Given the description of an element on the screen output the (x, y) to click on. 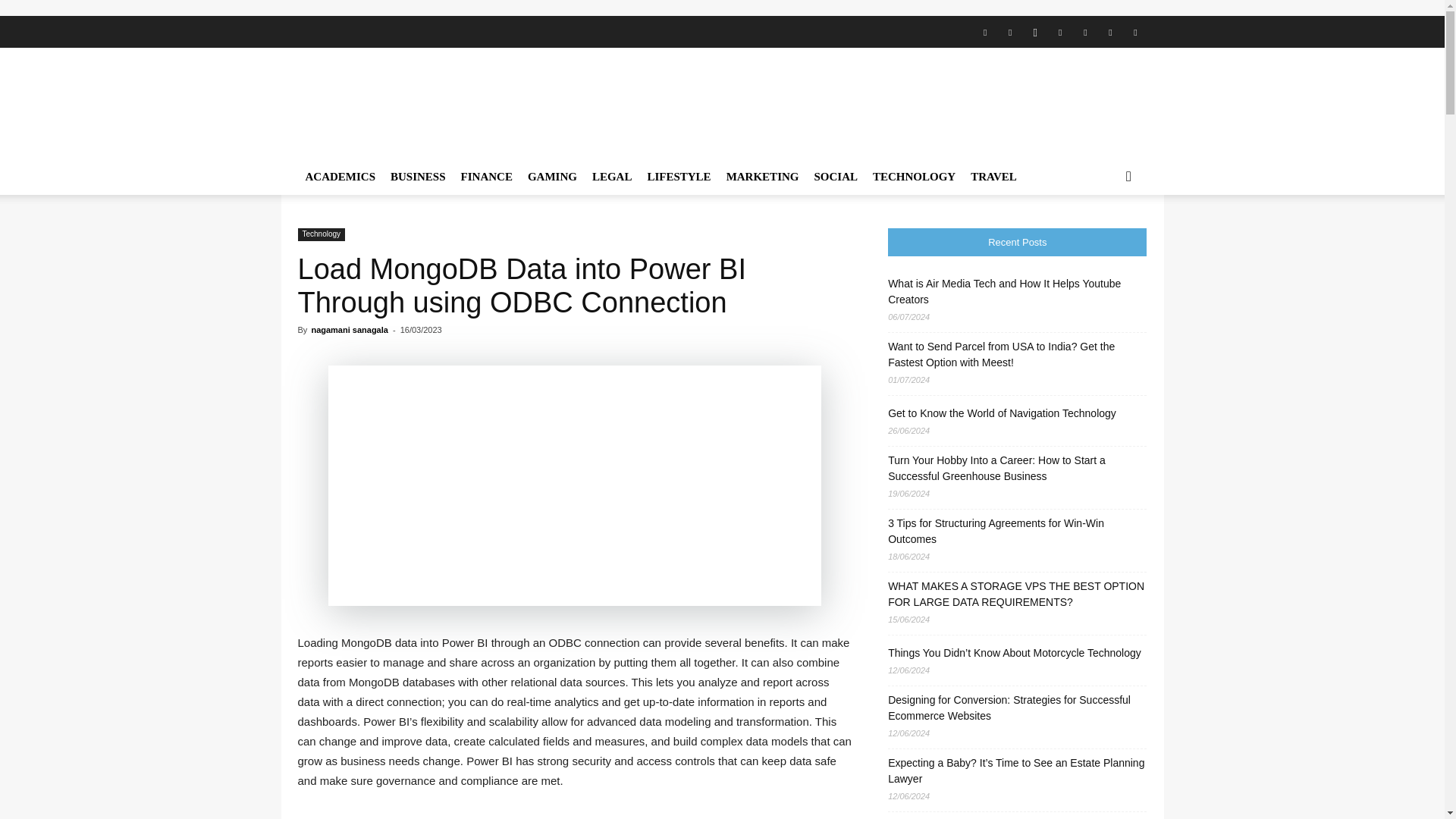
HowToCrazy.Com (426, 102)
